Given the description of an element on the screen output the (x, y) to click on. 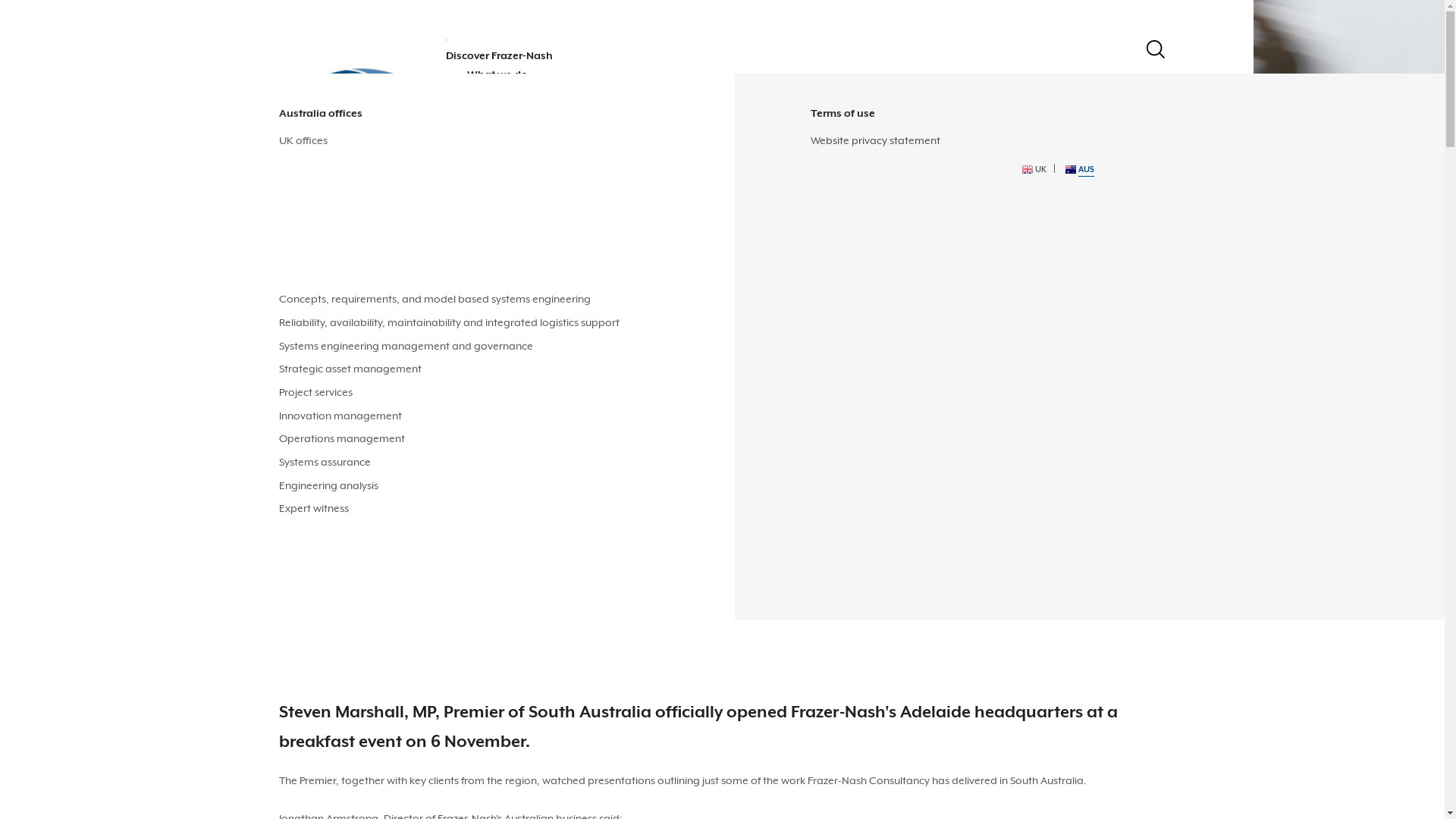
Partnering Element type: text (304, 233)
About us Element type: text (302, 112)
Our heritage Element type: text (310, 256)
AUS Element type: text (1079, 168)
Your industry Element type: text (312, 112)
Systems assurance Element type: text (324, 461)
Innovation management Element type: text (340, 415)
Cross-industry expertise Element type: text (340, 271)
Terms of use Element type: text (842, 112)
Early careers Element type: text (311, 178)
Search Element type: hover (1155, 49)
Australia offices Element type: text (320, 112)
Project services Element type: text (315, 391)
Home AUS Element type: hover (356, 102)
Strategic asset management Element type: text (350, 368)
News Element type: text (292, 294)
Australia offices Element type: text (317, 186)
Accreditations Element type: text (314, 209)
Energy and resources Element type: text (331, 140)
Home Element type: text (294, 544)
Discover Frazer-Nash Element type: text (342, 563)
Celebrating 10 years in Australia Element type: text (356, 140)
Discover Frazer-Nash Element type: text (498, 55)
Search and apply Element type: text (321, 140)
Careers Element type: text (486, 112)
Safety-critical organisations Element type: text (346, 209)
Website privacy statement Element type: text (875, 140)
UK Element type: text (1033, 168)
Experienced professionals Element type: text (346, 112)
Expert witness Element type: text (313, 508)
Events Element type: text (295, 425)
News Element type: text (304, 582)
Resources Element type: text (493, 93)
Contact us Element type: text (494, 150)
Operations management Element type: text (341, 438)
Diversity and inclusion Element type: text (332, 163)
Back to all news Element type: text (331, 382)
Space Element type: text (294, 233)
Concepts, requirements, and model based systems engineering Element type: text (434, 298)
Systems engineering management and governance Element type: text (406, 345)
Find us Element type: text (485, 131)
UK offices Element type: text (303, 140)
Transport and industry Element type: text (334, 163)
Defence Element type: text (299, 186)
What we do Element type: text (497, 74)
Engineering analysis Element type: text (328, 485)
